Given the description of an element on the screen output the (x, y) to click on. 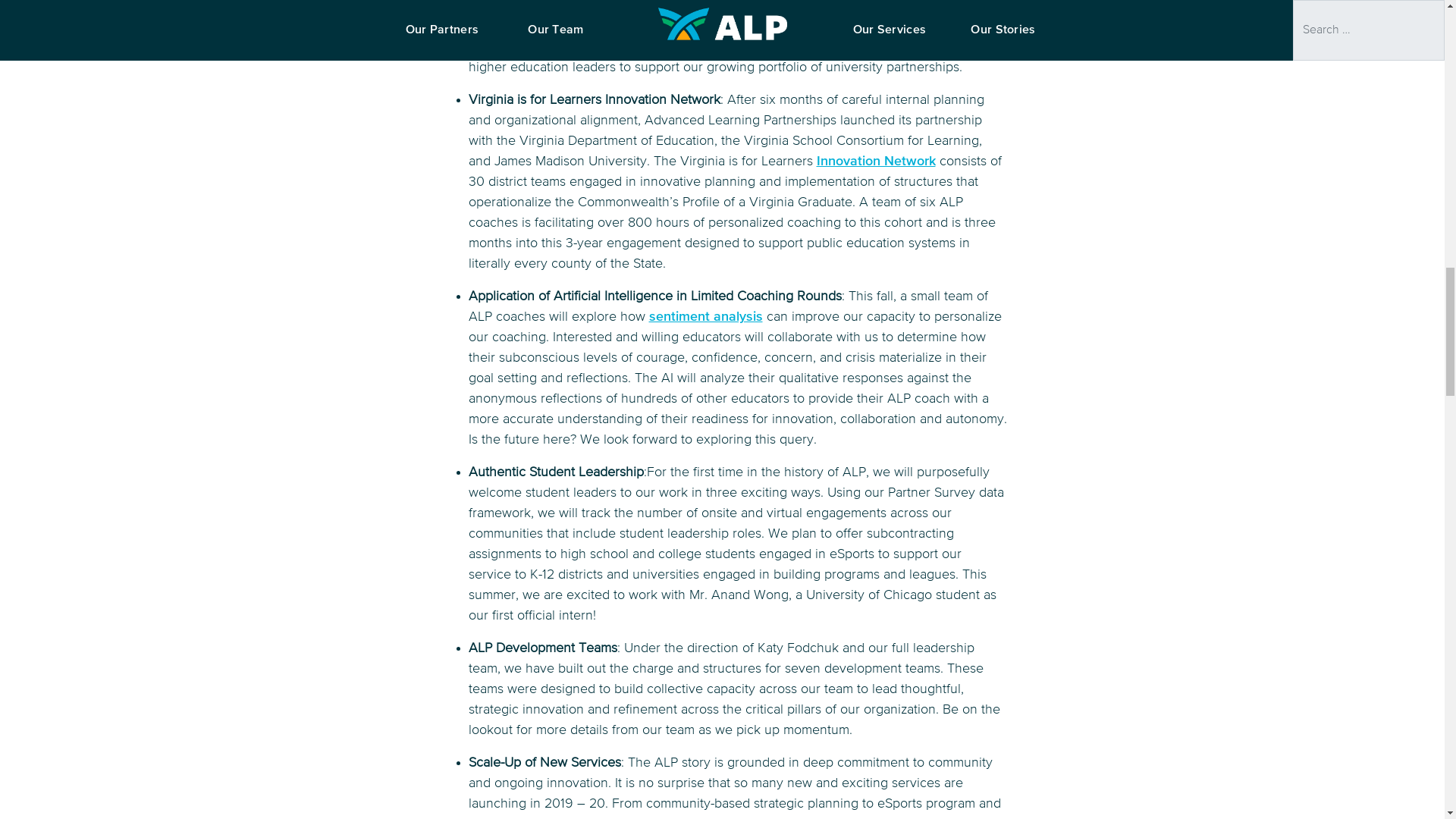
sentiment analysis (705, 316)
Innovation Network (874, 161)
